Given the description of an element on the screen output the (x, y) to click on. 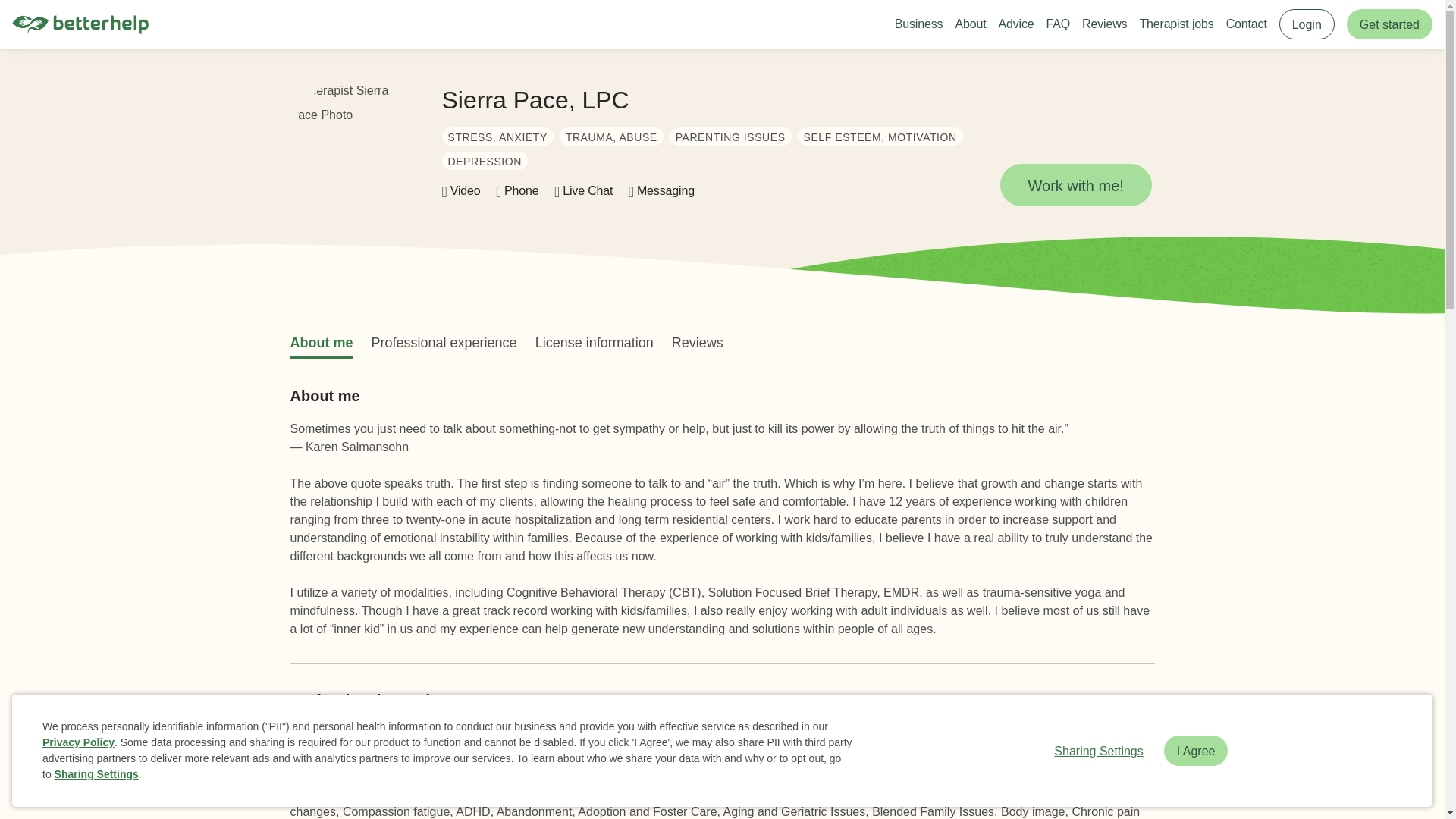
Therapist jobs (1175, 24)
Reviews (697, 342)
Get started (1389, 24)
About me (320, 342)
Business (919, 24)
Login (1307, 24)
Professional experience (443, 342)
Reviews (1103, 24)
License information (594, 342)
Sharing Settings (1098, 750)
